Given the description of an element on the screen output the (x, y) to click on. 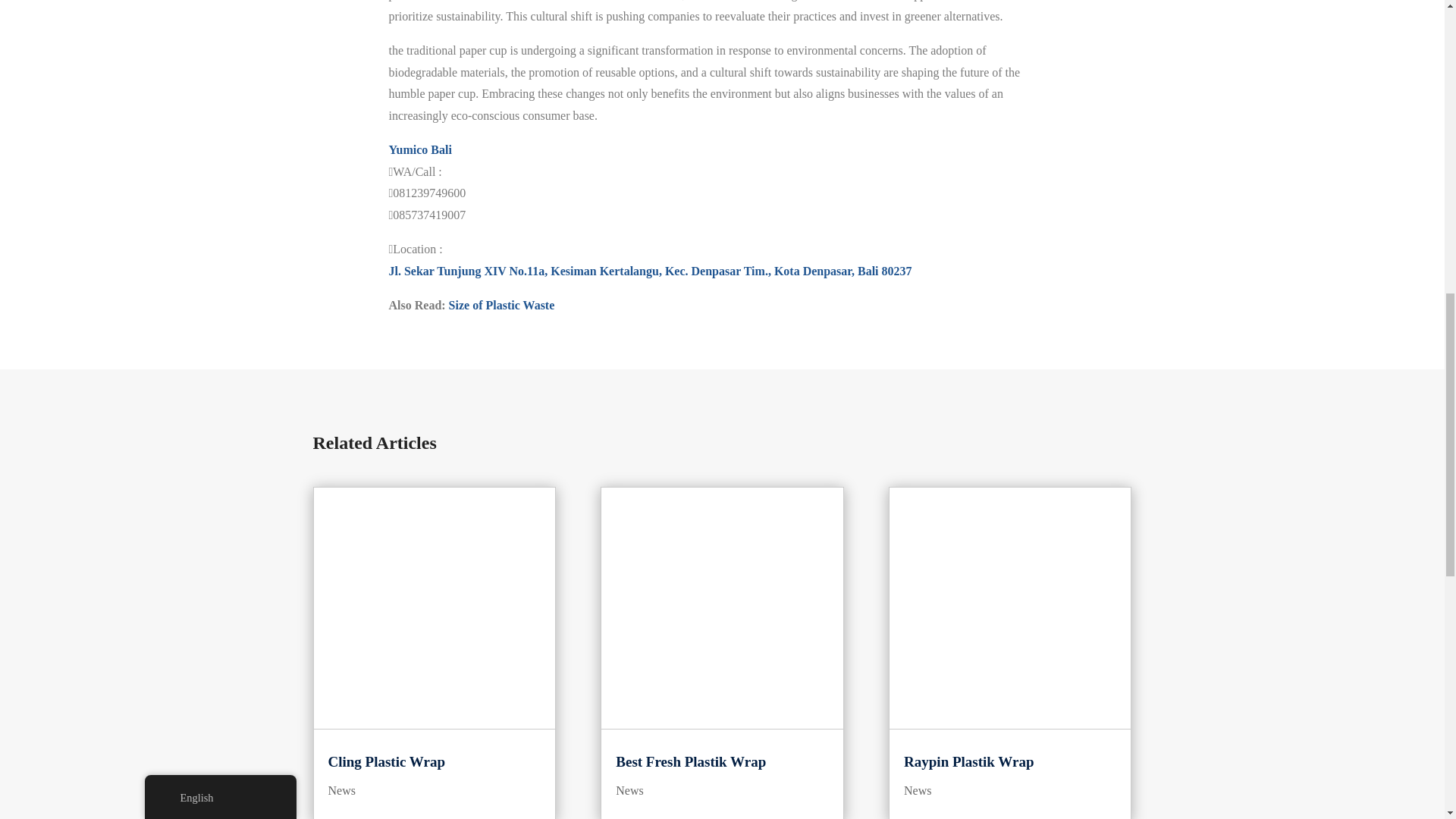
Yumico Bali (419, 149)
Best Fresh Plastik Wrap (690, 761)
News (629, 789)
News (917, 789)
Size of Plastic Waste (501, 305)
News (341, 789)
Cling Plastic Wrap (385, 761)
Raypin Plastik Wrap (968, 761)
